Given the description of an element on the screen output the (x, y) to click on. 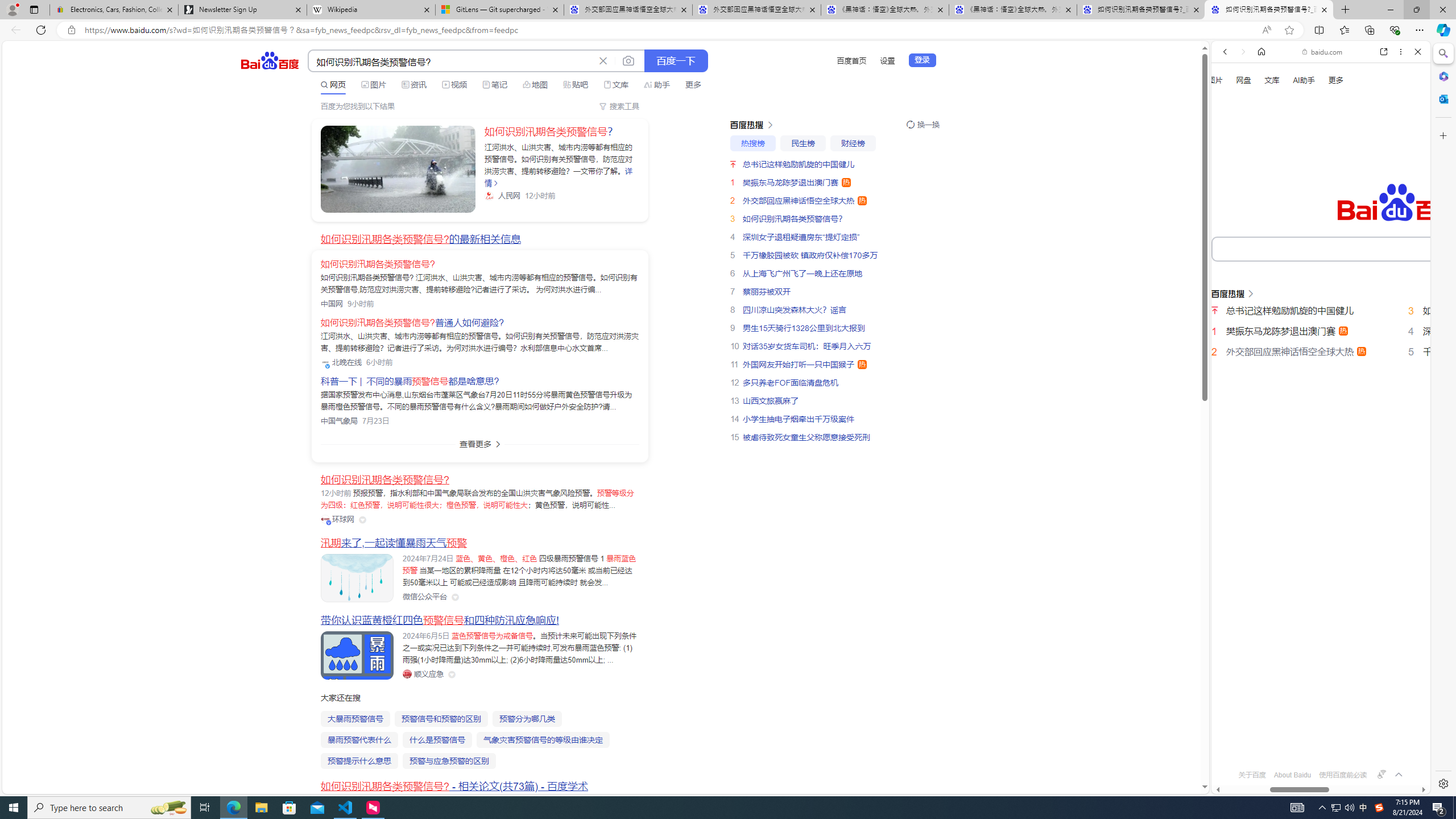
Open link in new tab (1383, 51)
